Given the description of an element on the screen output the (x, y) to click on. 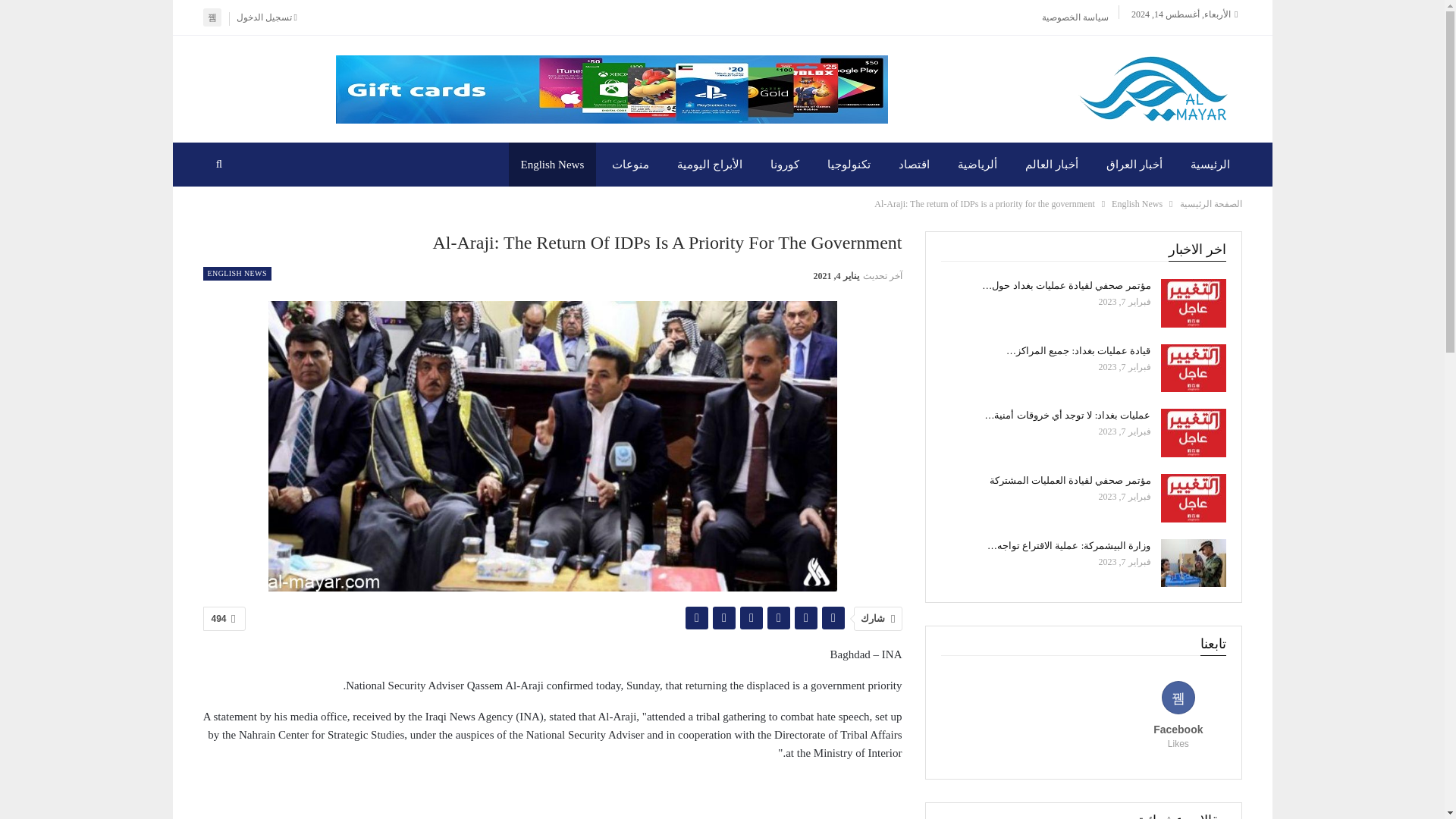
English News (551, 164)
Advertisement (552, 796)
ENGLISH NEWS (236, 273)
English News (1136, 203)
